Given the description of an element on the screen output the (x, y) to click on. 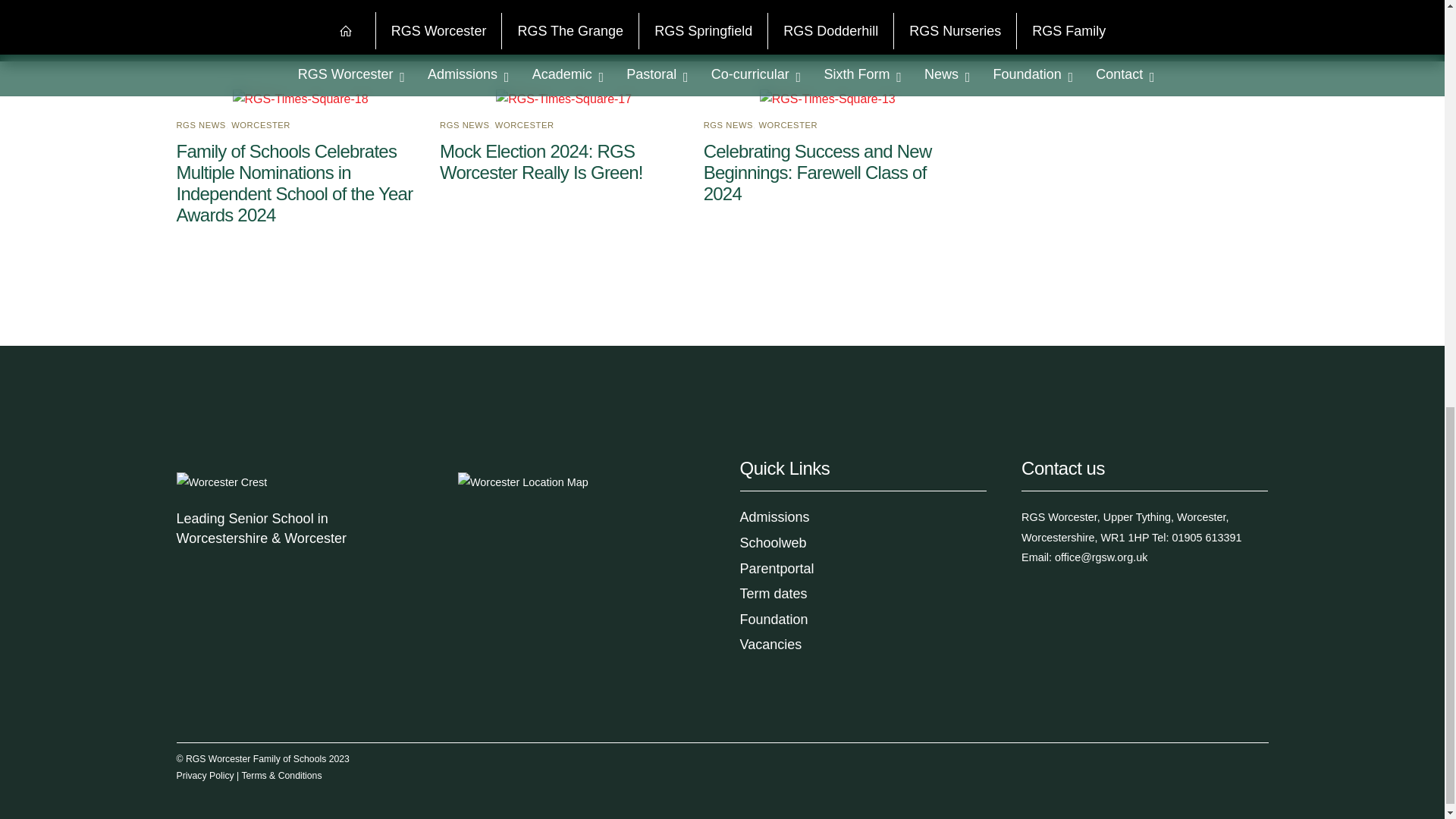
RGS-Times-Square-17 (563, 98)
RGS-Times-Square-18 (300, 98)
RGS-Times-Square-13 (827, 98)
